Given the description of an element on the screen output the (x, y) to click on. 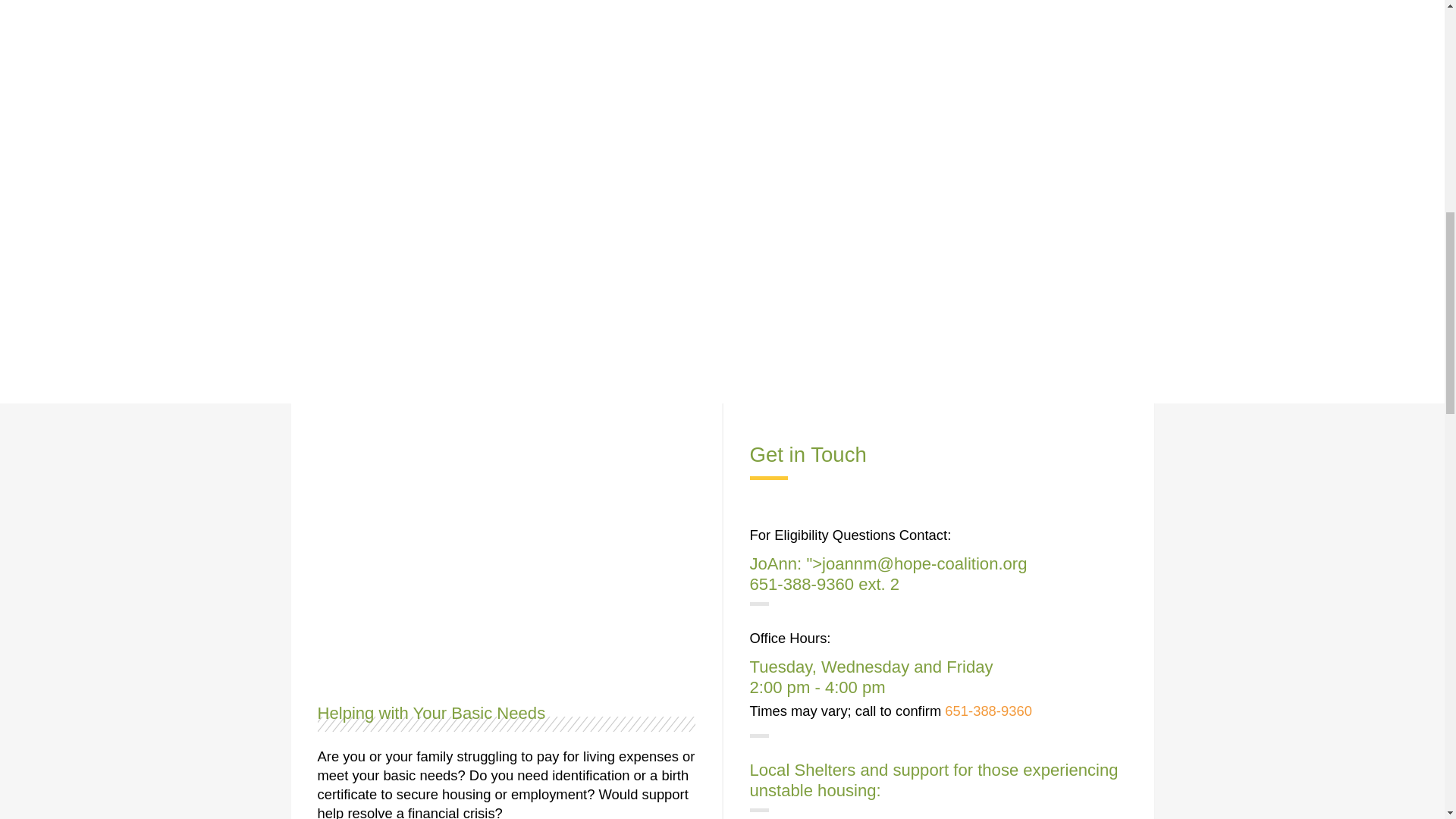
651-388-9360 (801, 583)
651-388-9360 (988, 710)
